Given the description of an element on the screen output the (x, y) to click on. 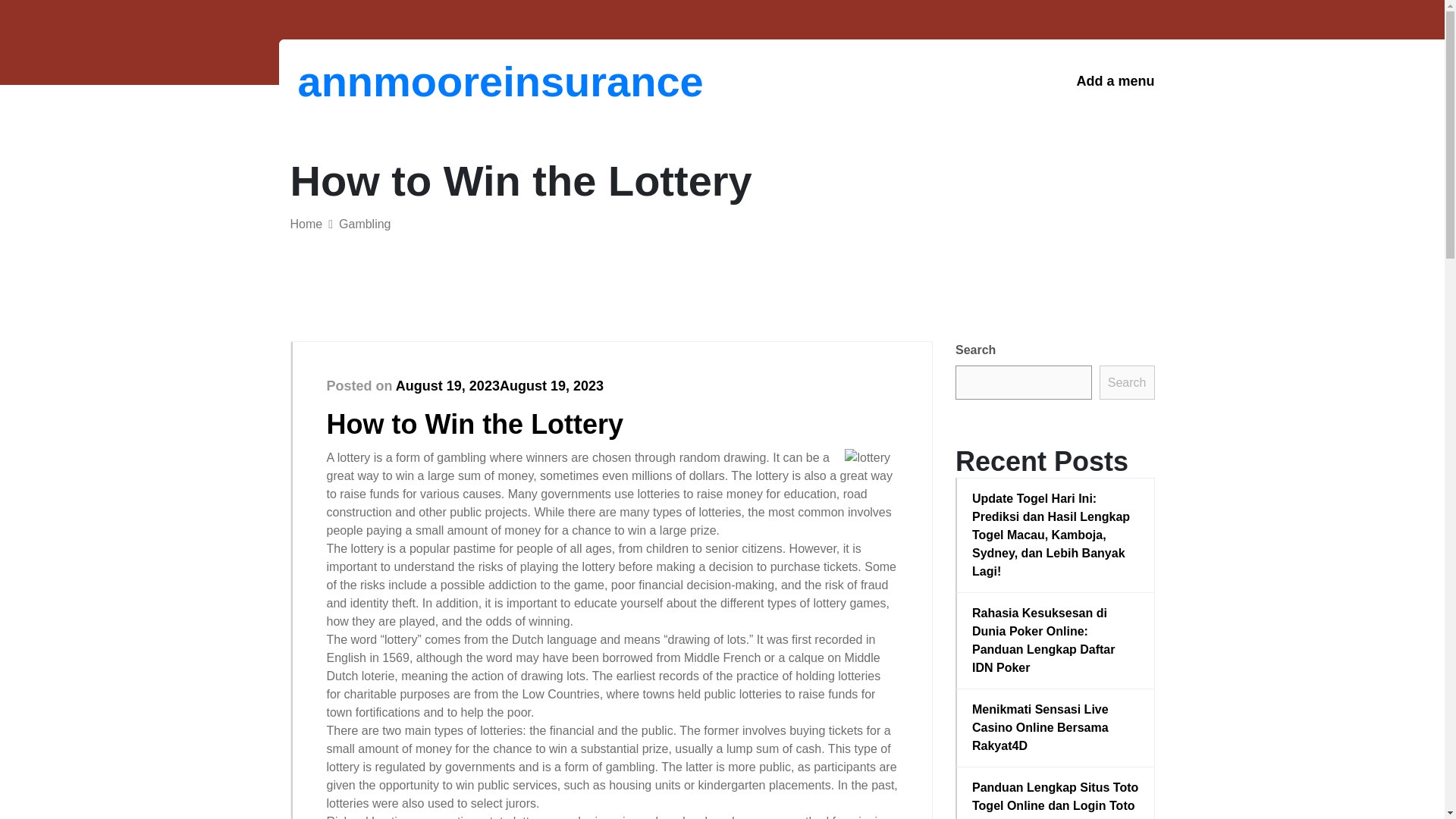
annmooreinsurance (376, 81)
Home (305, 223)
Search (1126, 382)
How to Win the Lottery (474, 423)
August 19, 2023August 19, 2023 (500, 385)
Gambling (364, 223)
Menikmati Sensasi Live Casino Online Bersama Rakyat4D (1055, 728)
Add a menu (1114, 81)
